Given the description of an element on the screen output the (x, y) to click on. 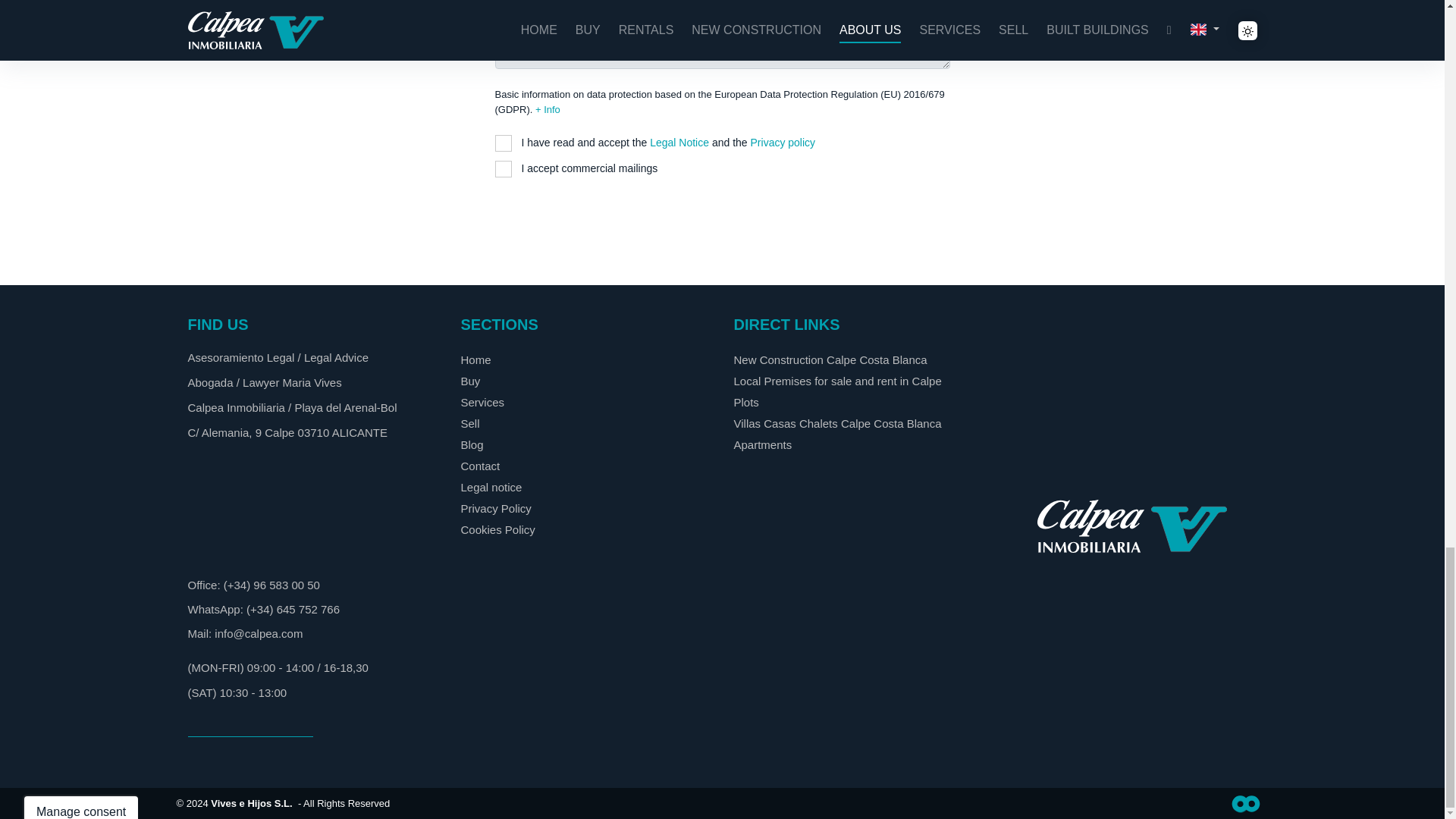
Legal Notice (679, 142)
Cookies Policy (498, 529)
Privacy policy (783, 142)
Legal notice (491, 486)
Sell (470, 422)
Buy (470, 380)
Services (483, 401)
Blog (472, 444)
Contact (480, 465)
Home (476, 359)
Privacy Policy (496, 508)
